Given the description of an element on the screen output the (x, y) to click on. 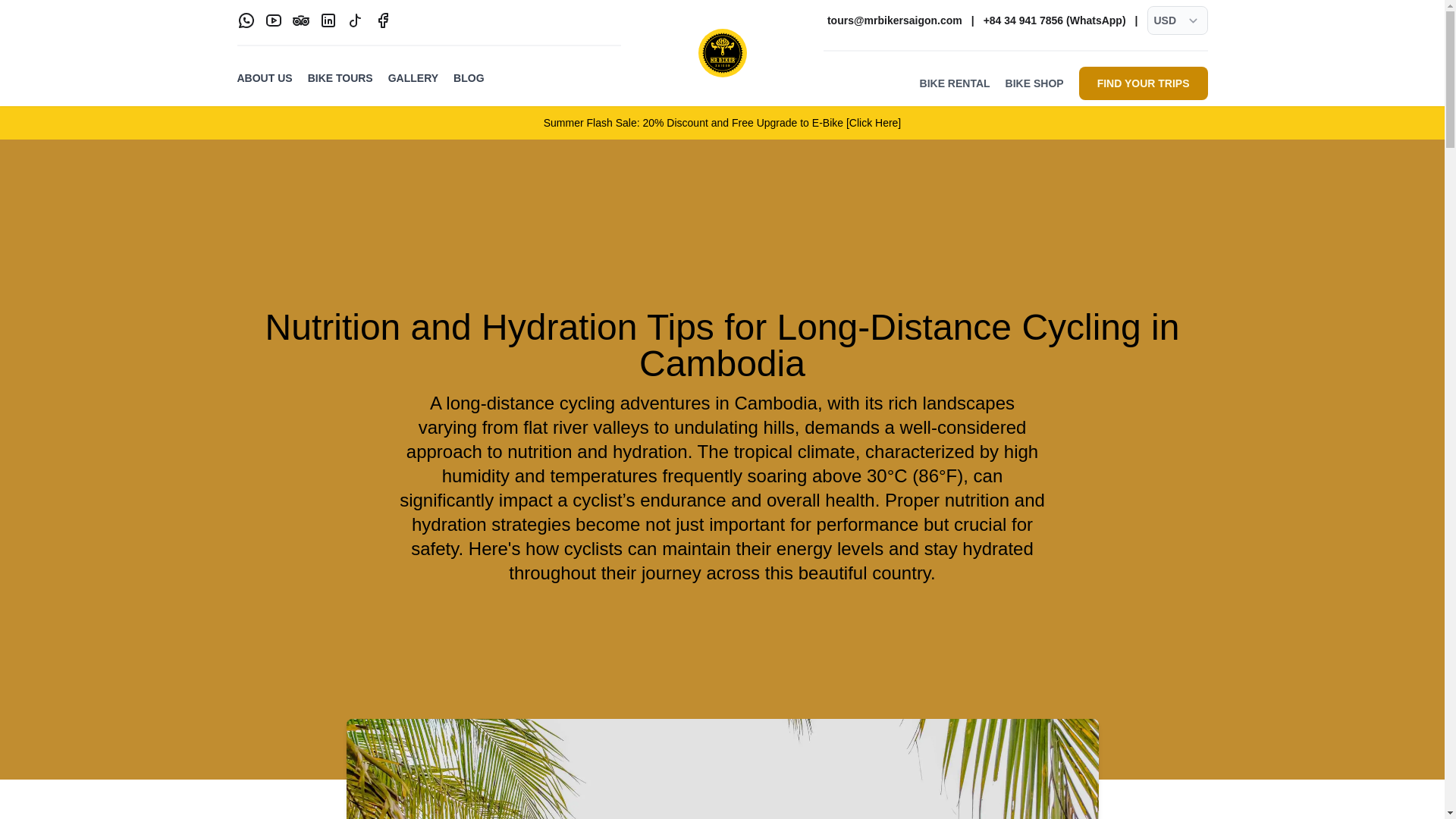
This is svgThis is svg (355, 20)
BLOG (467, 77)
Gallery (413, 77)
BIKE TOURS (339, 77)
This is svgThis is svgThis is svg (272, 20)
search-tours (955, 83)
ABOUT US (263, 77)
This is svgThis is svgThis is svgThis is svgThis is svg (299, 20)
This is svgThis is svgThis is svg (327, 20)
Find you trips (1143, 82)
This is svgThis is svg (355, 20)
This is svgThis is svgThis is svg (327, 20)
Bike tours (339, 77)
search-tours (1035, 83)
This is svgThis is svgThis is svg (244, 20)
